Given the description of an element on the screen output the (x, y) to click on. 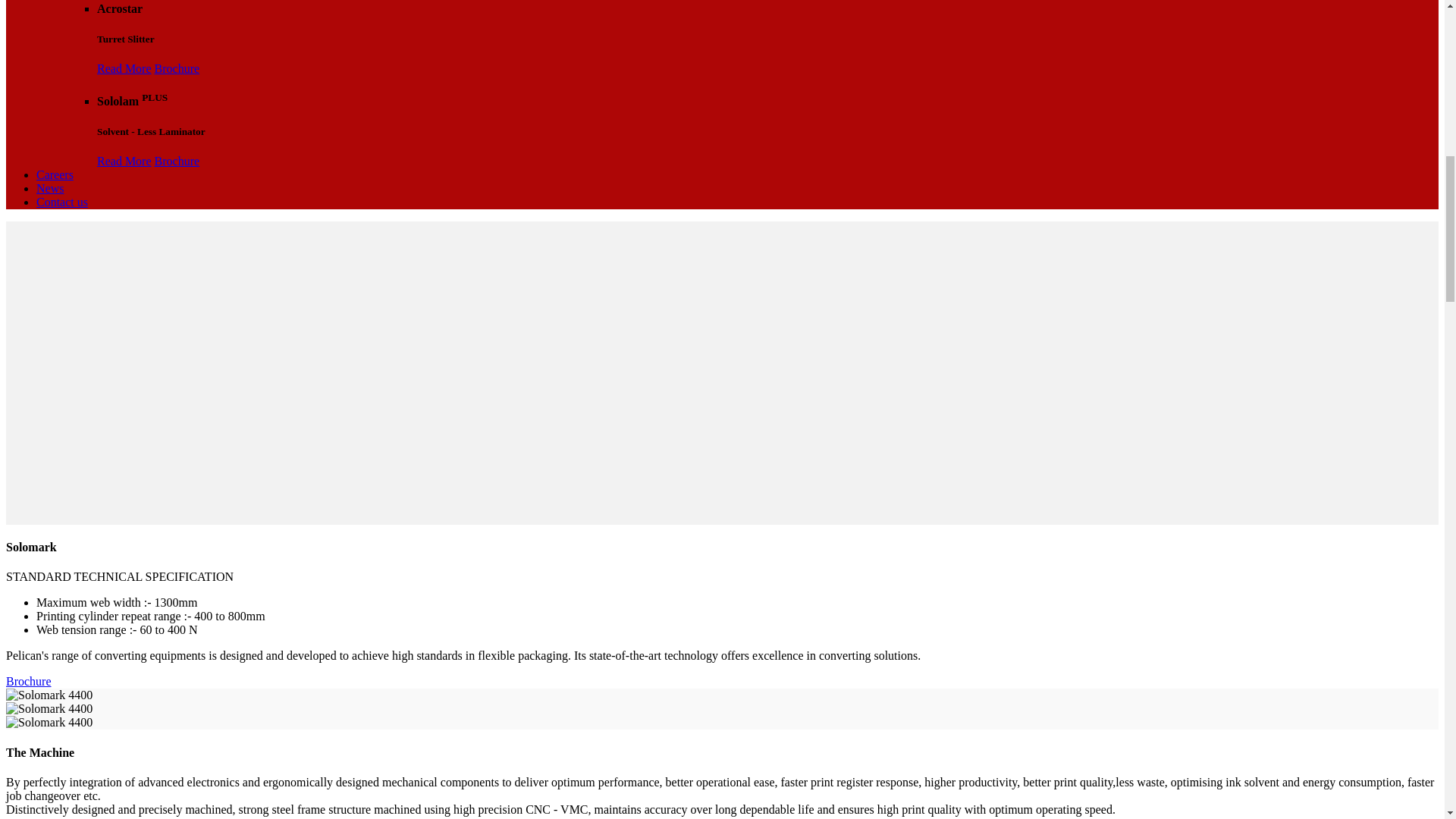
Contact us (61, 201)
Brochure (177, 68)
Careers (55, 174)
Read More (124, 68)
News (50, 187)
Read More (124, 160)
Brochure (27, 680)
Brochure (177, 160)
